Given the description of an element on the screen output the (x, y) to click on. 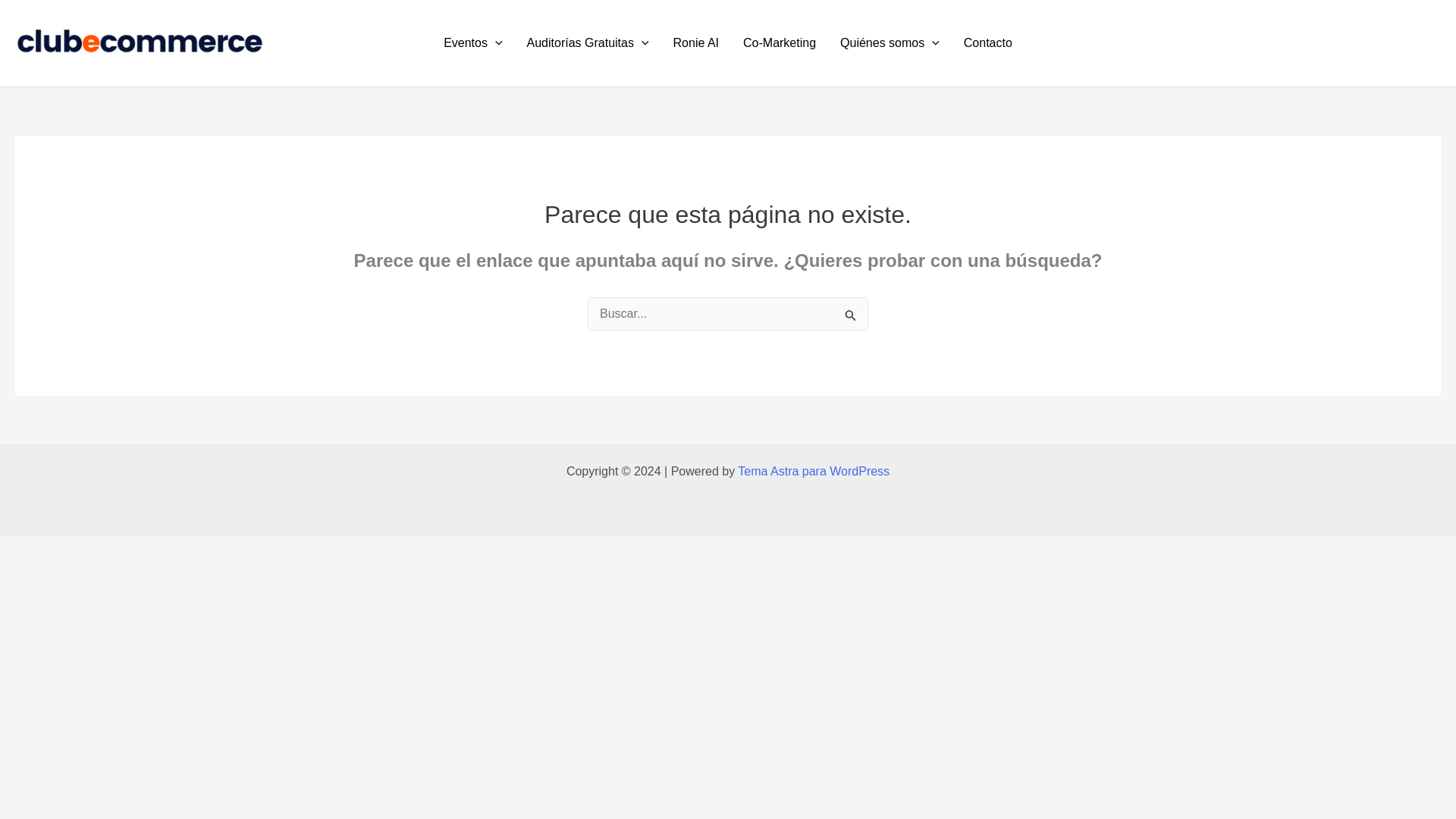
Contacto (988, 43)
Eventos (471, 43)
Ronie AI (695, 43)
Tema Astra para WordPress (813, 471)
Co-Marketing (779, 43)
